Given the description of an element on the screen output the (x, y) to click on. 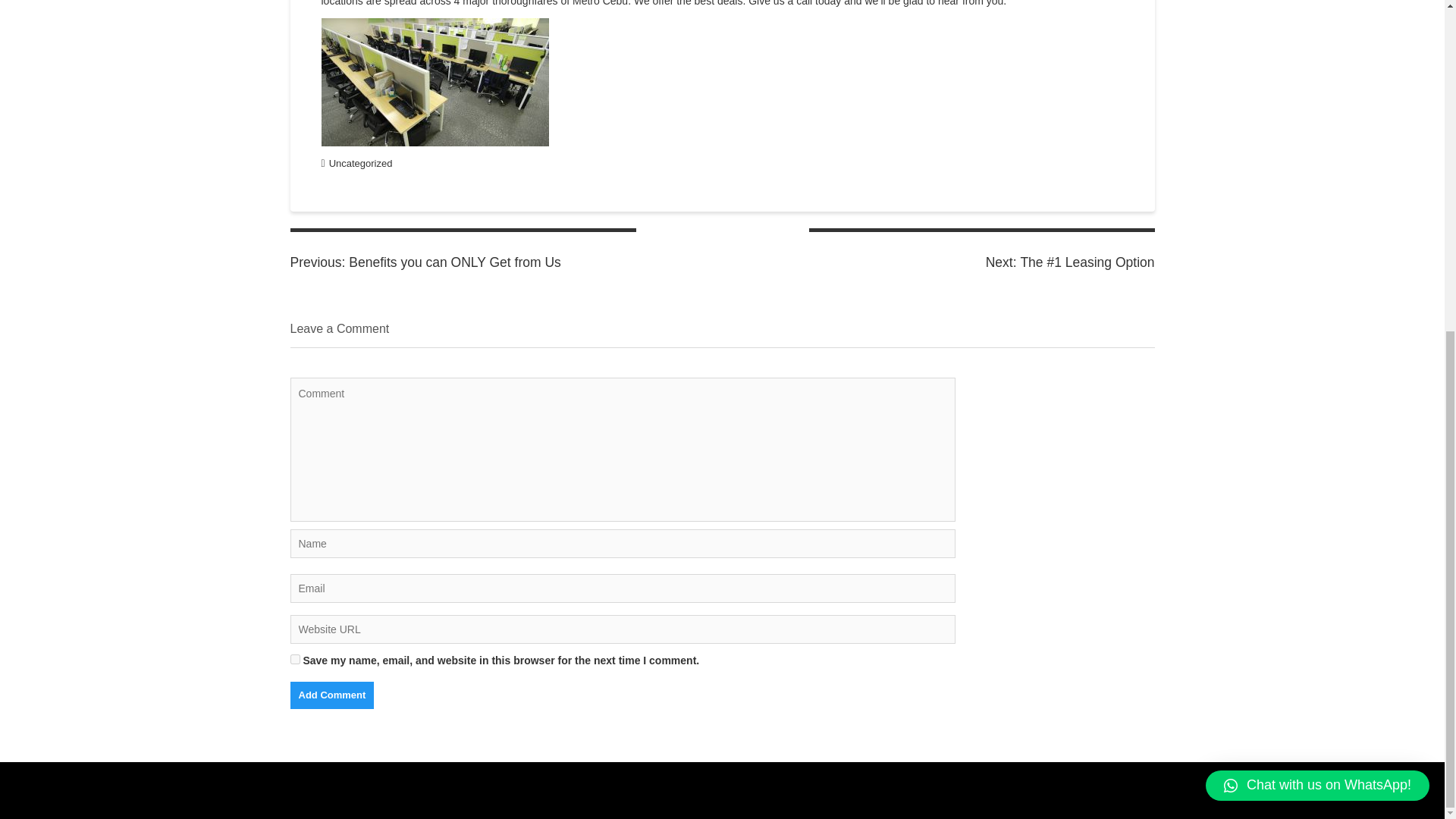
Chat with us on WhatsApp! (1317, 235)
yes (294, 659)
Add Comment (331, 695)
Uncategorized (461, 260)
Add Comment (361, 163)
